Given the description of an element on the screen output the (x, y) to click on. 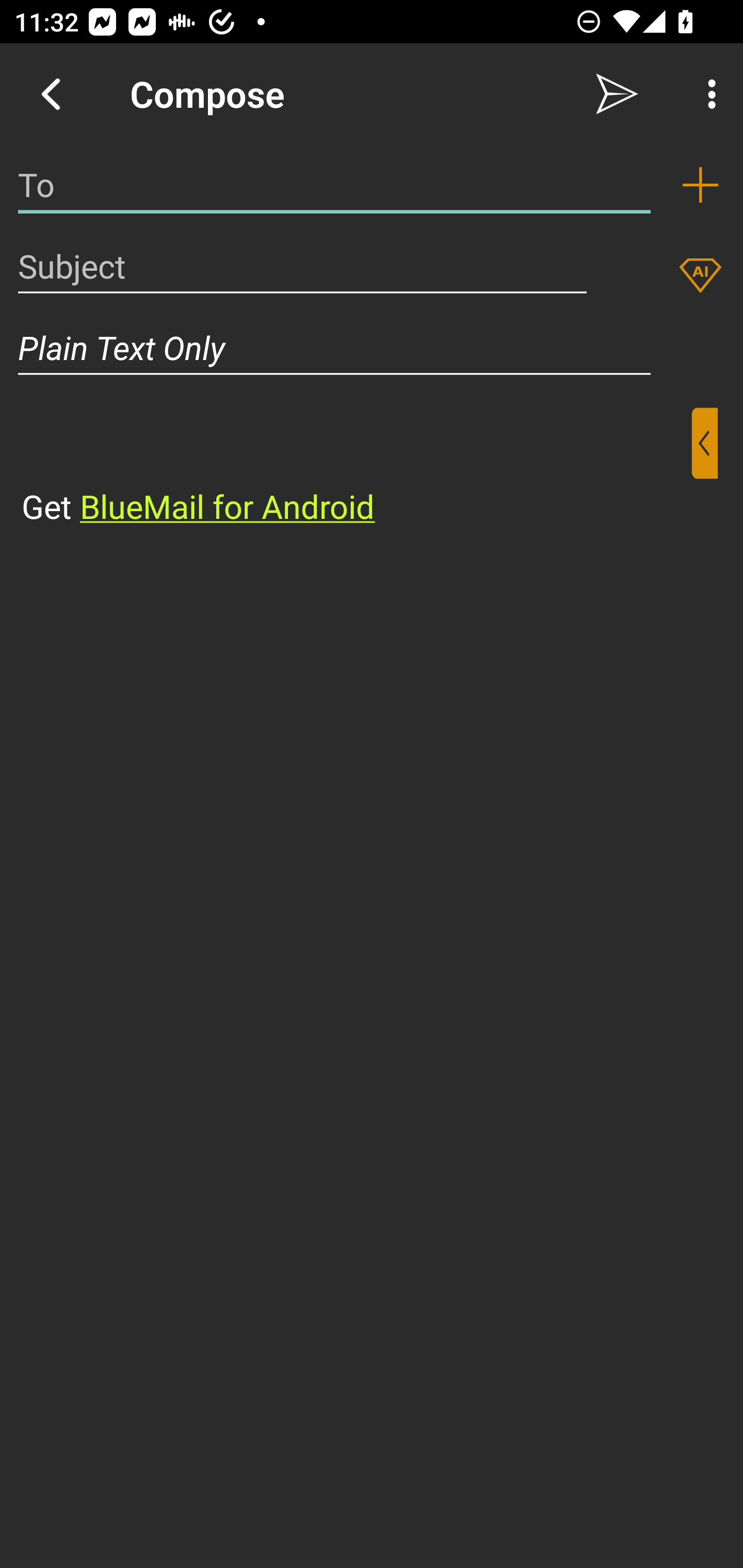
Navigate up (50, 93)
Send (616, 93)
More Options (706, 93)
To (334, 184)
Add recipient (To) (699, 184)
Subject (302, 266)
Plain Text Only (371, 347)


⁣Get BlueMail for Android ​ (355, 468)
